Given the description of an element on the screen output the (x, y) to click on. 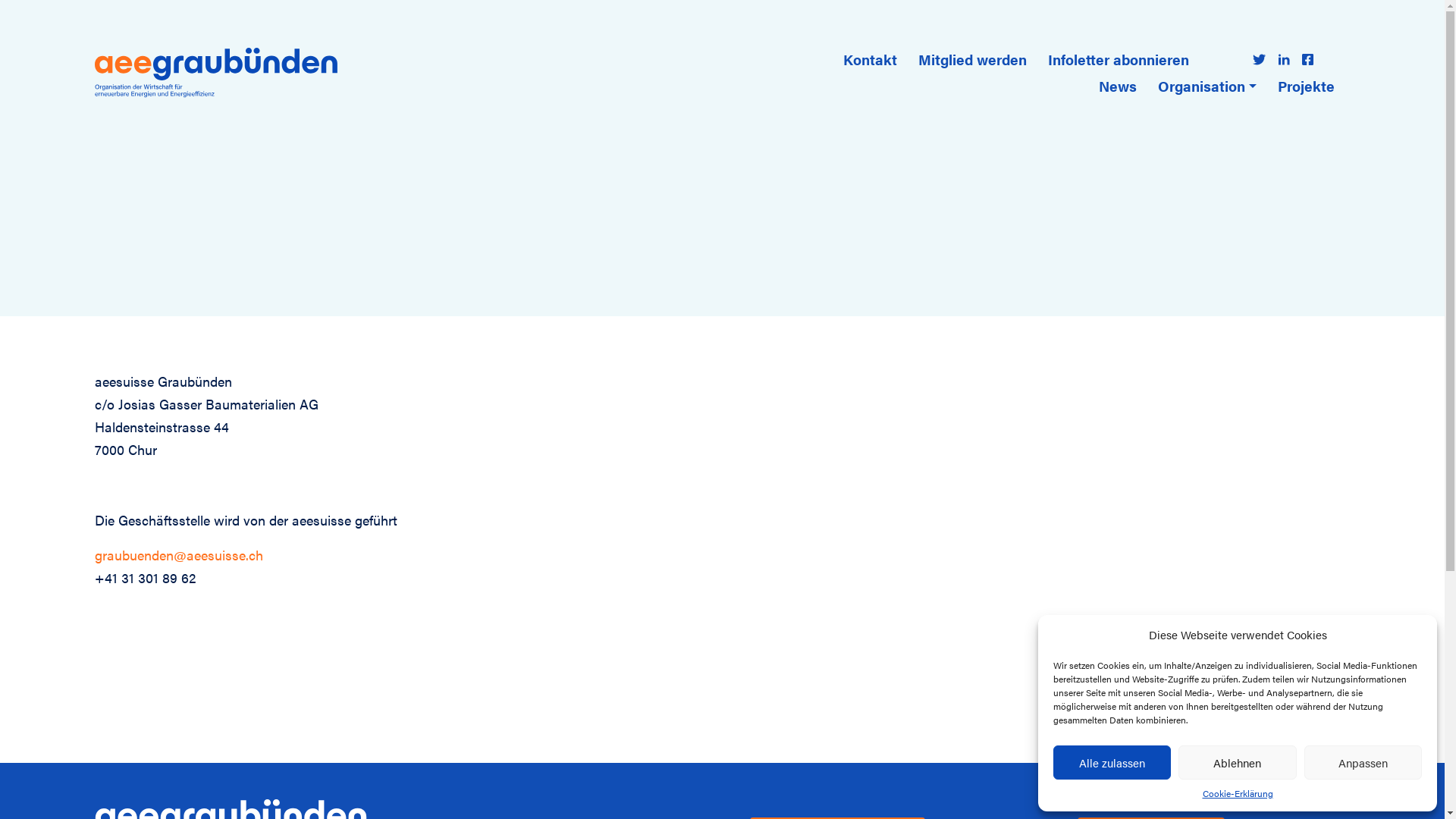
Ablehnen Element type: text (1236, 762)
Infoletter abonnieren Element type: text (1118, 59)
graubuenden@aeesuisse.ch Element type: text (178, 554)
Alle zulassen Element type: text (1111, 762)
logo-twitter Element type: text (1258, 59)
Mitglied werden Element type: text (972, 59)
Kontakt Element type: text (870, 59)
Organisation Element type: text (1206, 85)
News Element type: text (1117, 85)
Anpassen Element type: text (1362, 762)
Projekte Element type: text (1305, 85)
